Given the description of an element on the screen output the (x, y) to click on. 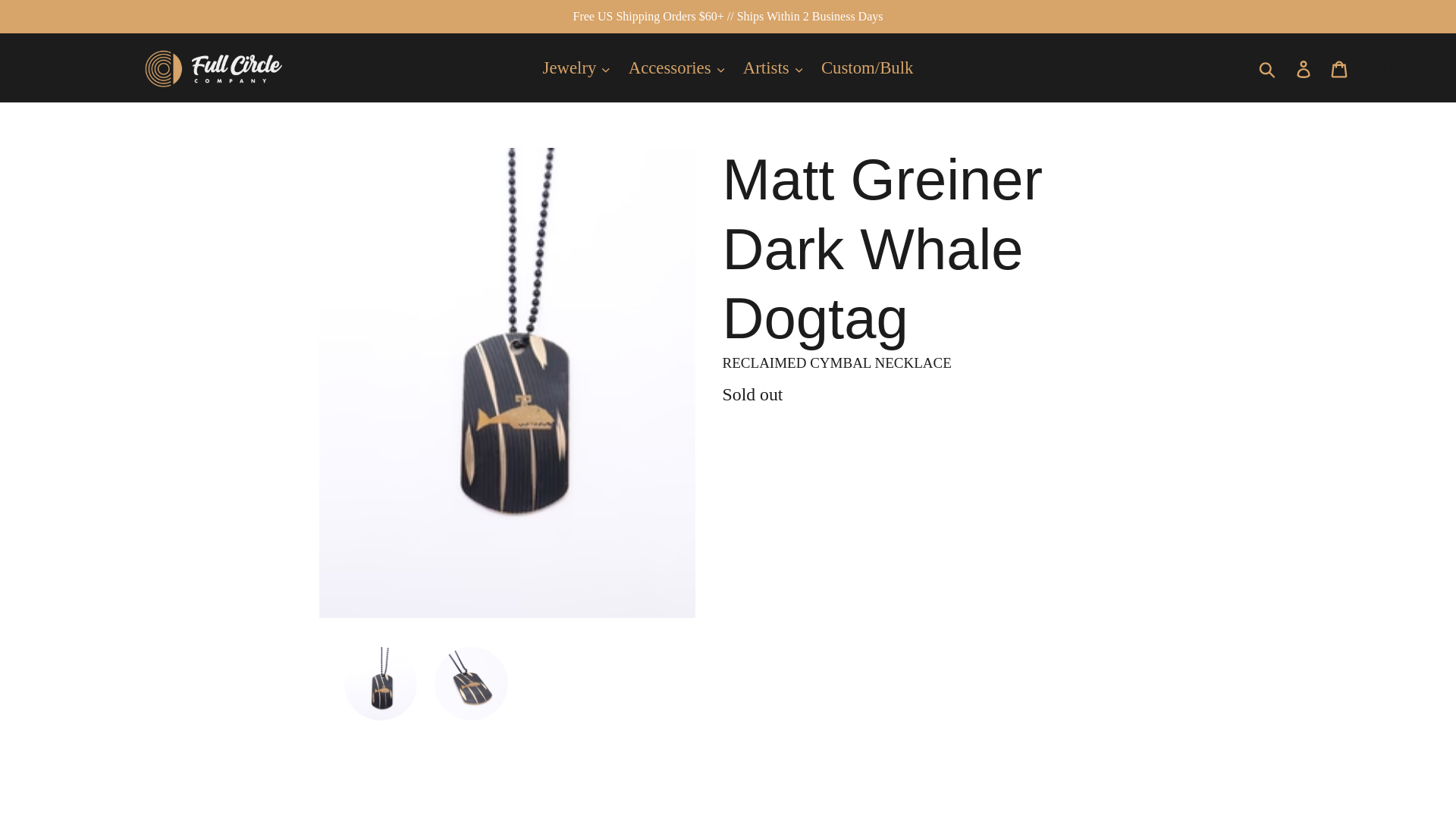
Cart (1340, 67)
Log in (1304, 67)
Submit (1268, 67)
